Given the description of an element on the screen output the (x, y) to click on. 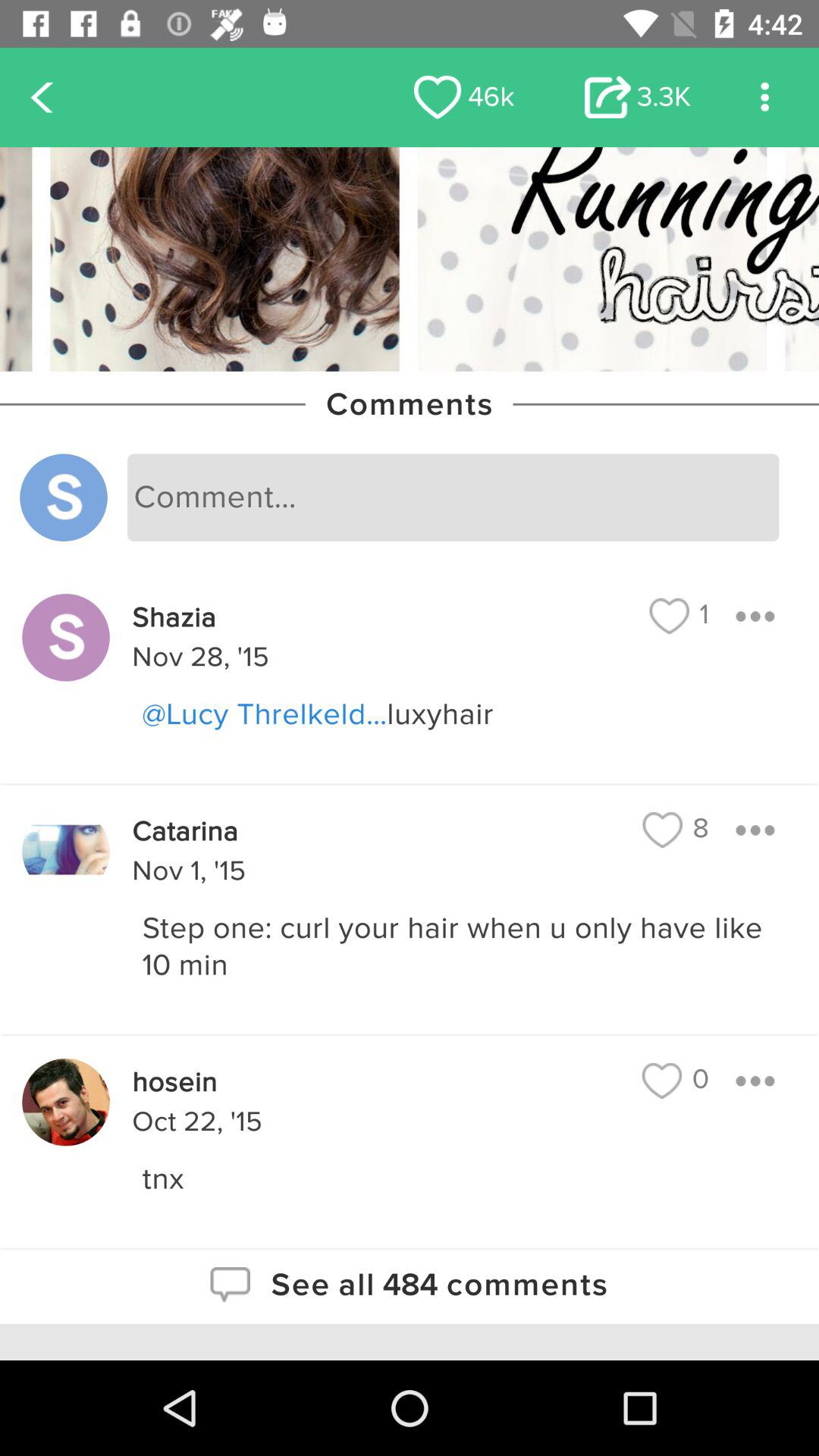
click advertisement image (409, 259)
